Given the description of an element on the screen output the (x, y) to click on. 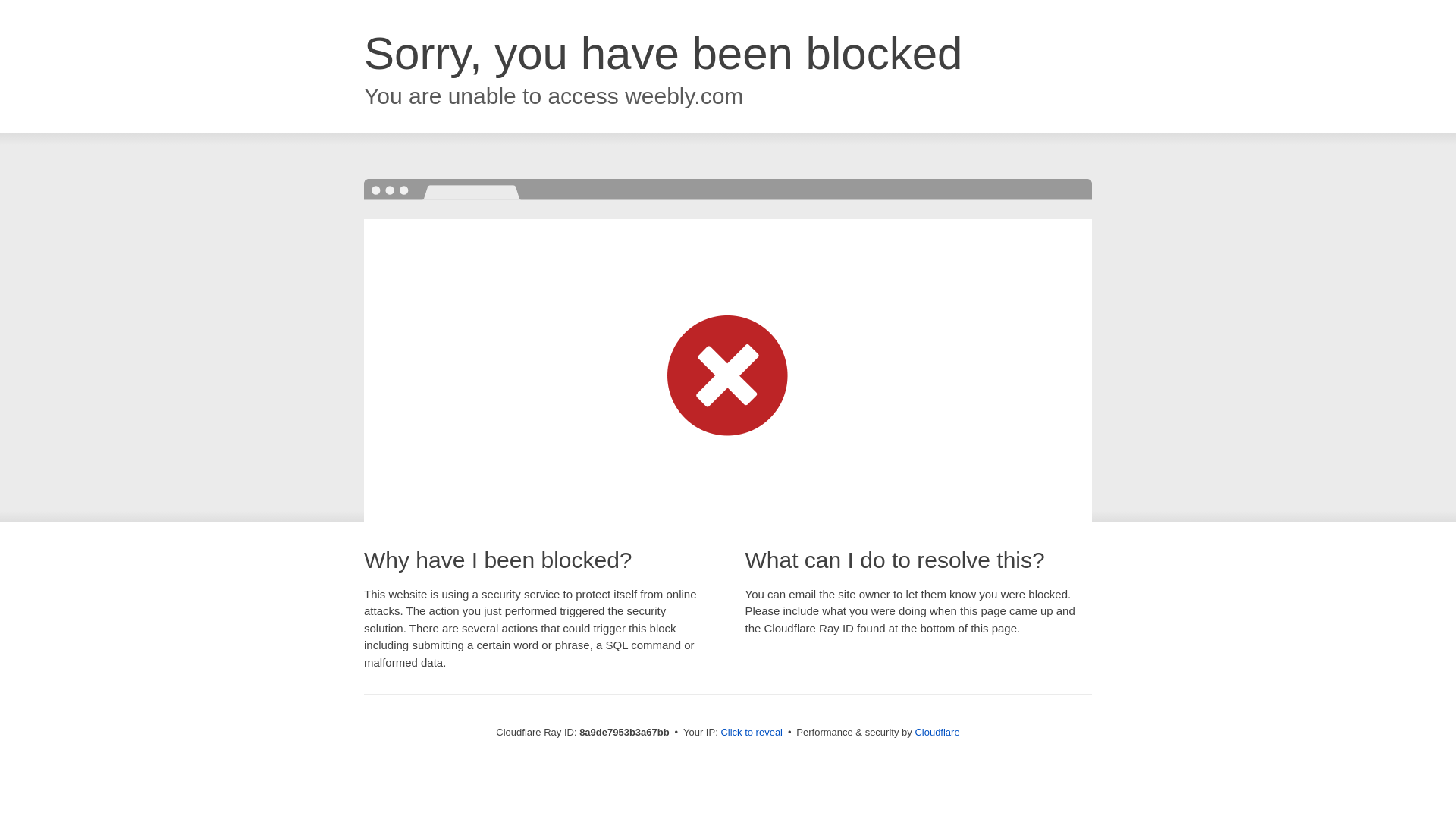
Cloudflare (936, 731)
Click to reveal (751, 732)
